Given the description of an element on the screen output the (x, y) to click on. 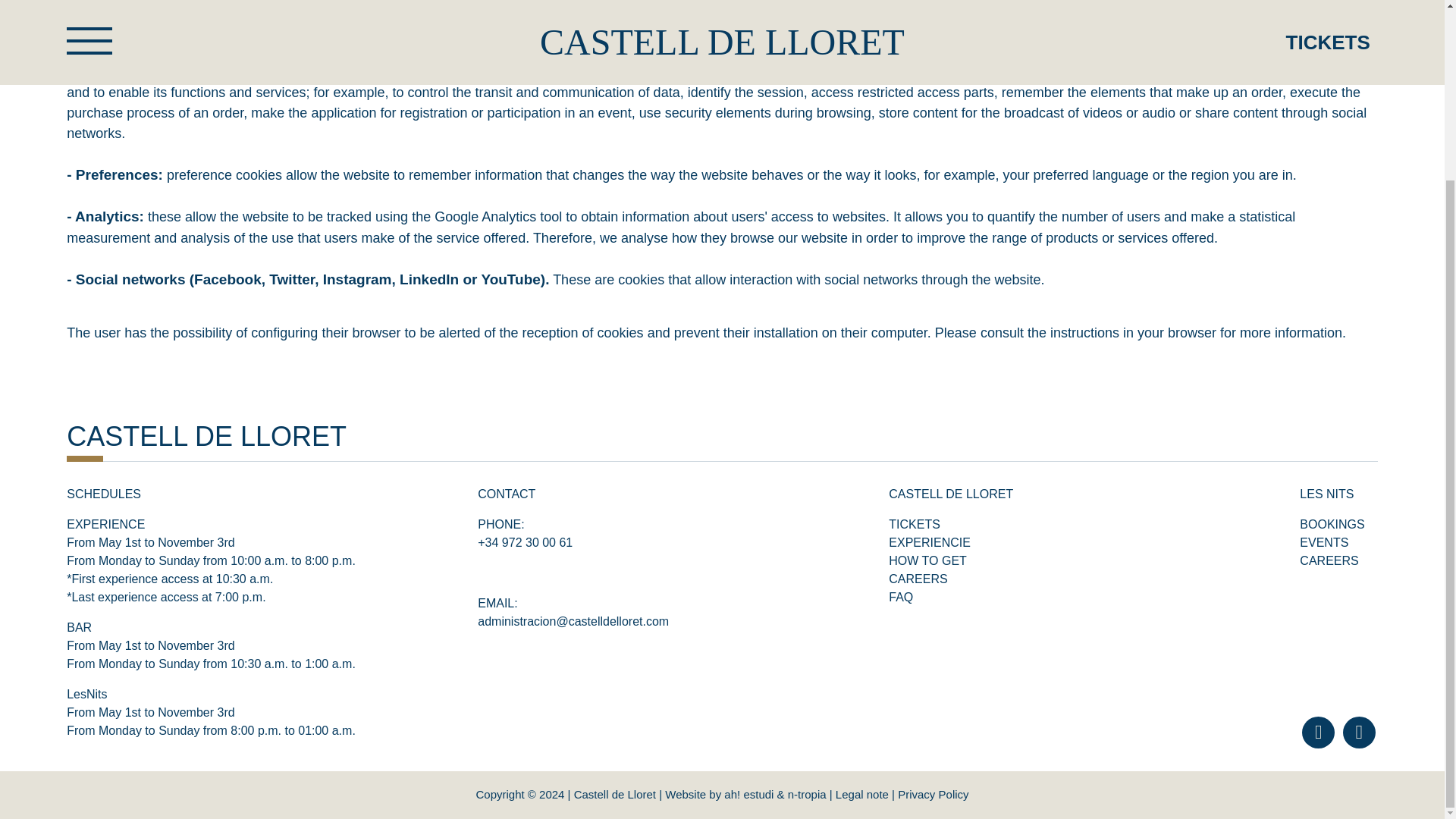
EVENTS (1324, 542)
CAREERS (1329, 560)
TICKETS (914, 523)
LES NITS (1327, 493)
CASTELL DE LLORET (206, 436)
CONTACT (506, 493)
HOW TO GET (927, 560)
FAQ (900, 596)
n-tropia (807, 793)
BOOKINGS (1332, 523)
